Given the description of an element on the screen output the (x, y) to click on. 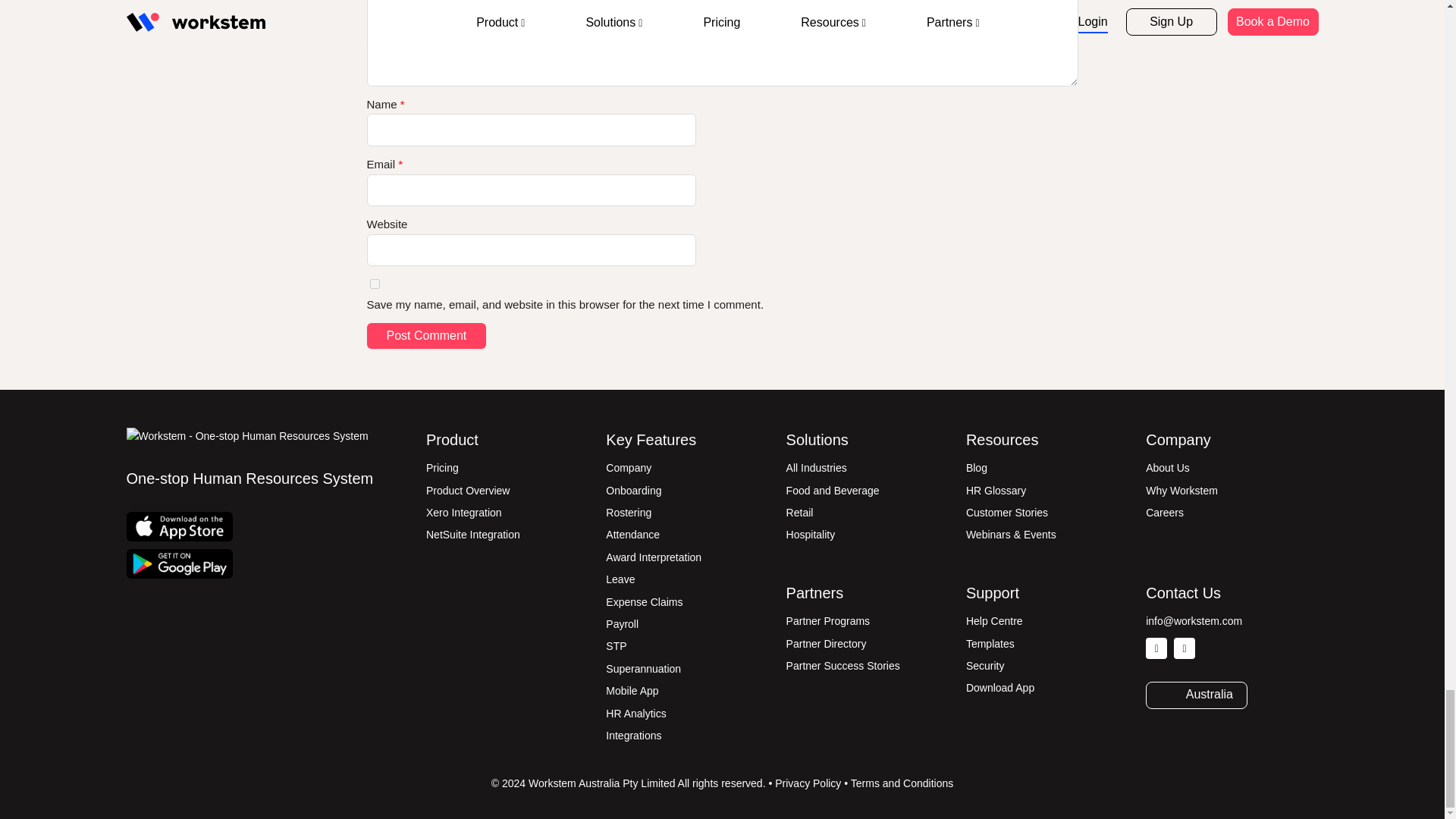
yes (374, 284)
Post Comment (426, 335)
